Given the description of an element on the screen output the (x, y) to click on. 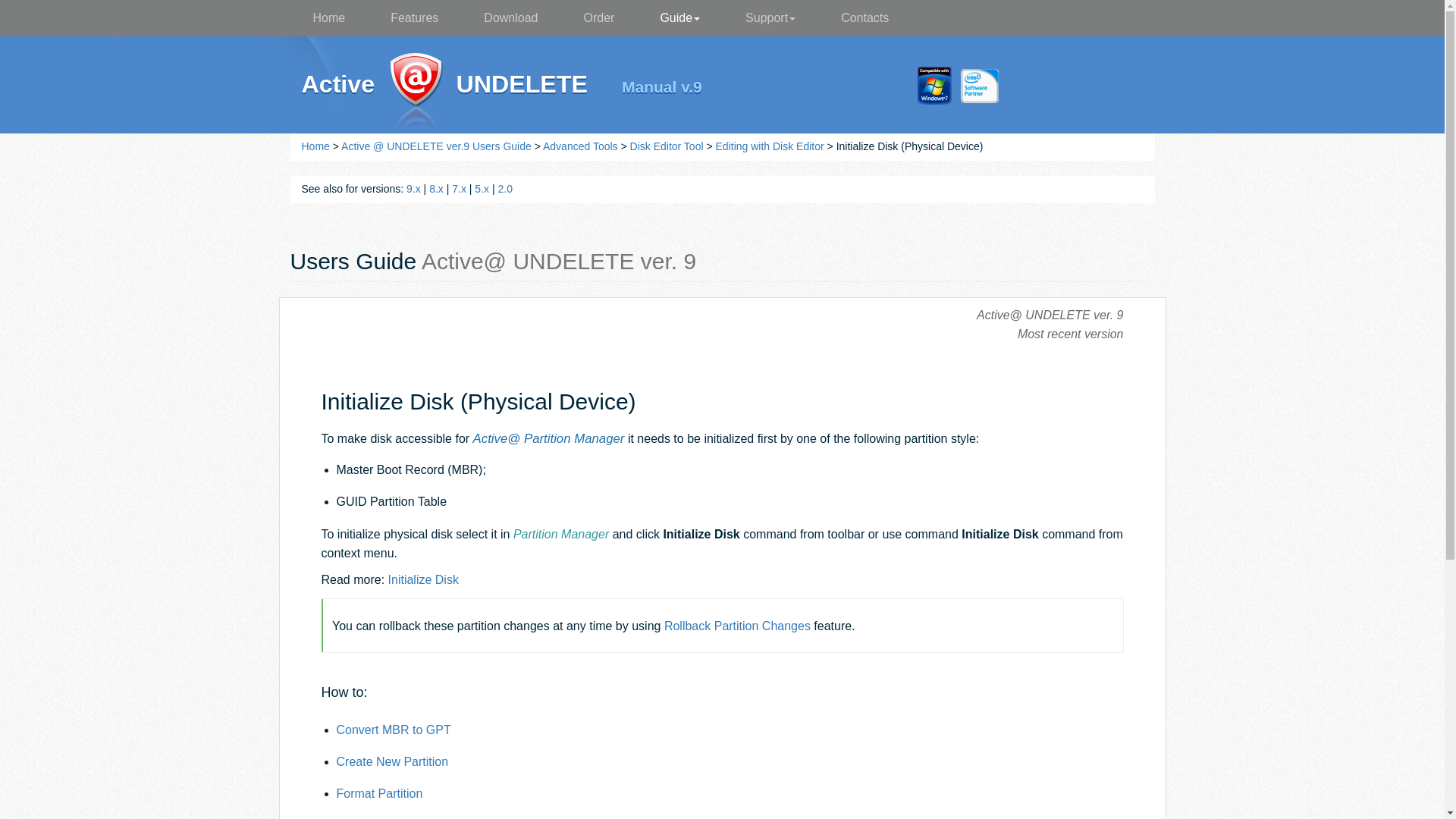
Disk Editor Tool (666, 146)
Rollback Partition Changes (736, 625)
Editing with Disk Editor (770, 146)
Format Partition (379, 793)
Open documentation for version 5.x (481, 188)
Initialize Disk (423, 579)
8.x (436, 188)
Contacts (864, 18)
Open documentation for version 7.x (458, 188)
Open documentation for version 2.0 (504, 188)
